Given the description of an element on the screen output the (x, y) to click on. 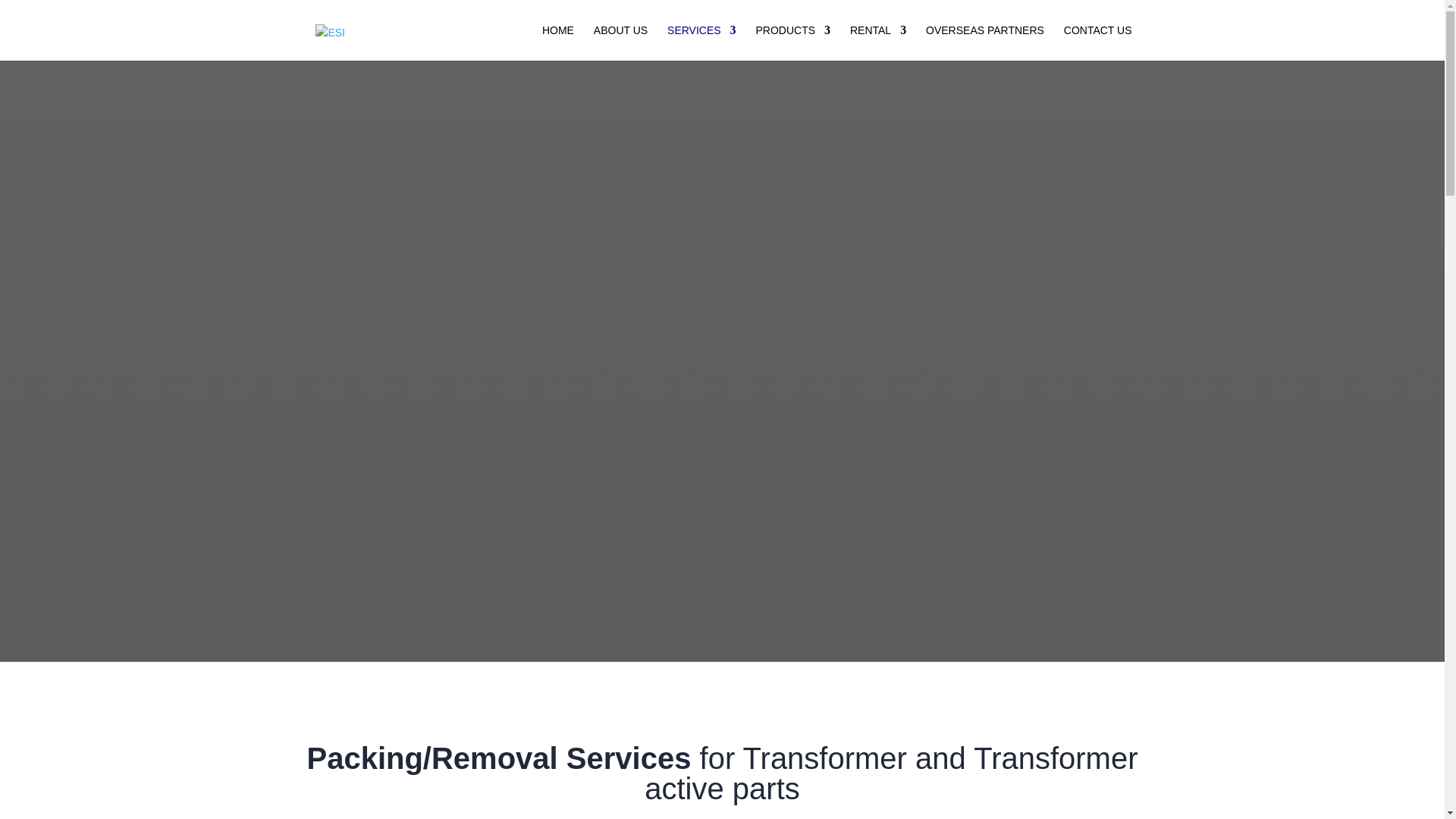
CONTACT US (1098, 42)
OVERSEAS PARTNERS (984, 42)
SERVICES (701, 42)
RENTAL (877, 42)
PRODUCTS (792, 42)
ABOUT US (620, 42)
HOME (557, 42)
